Given the description of an element on the screen output the (x, y) to click on. 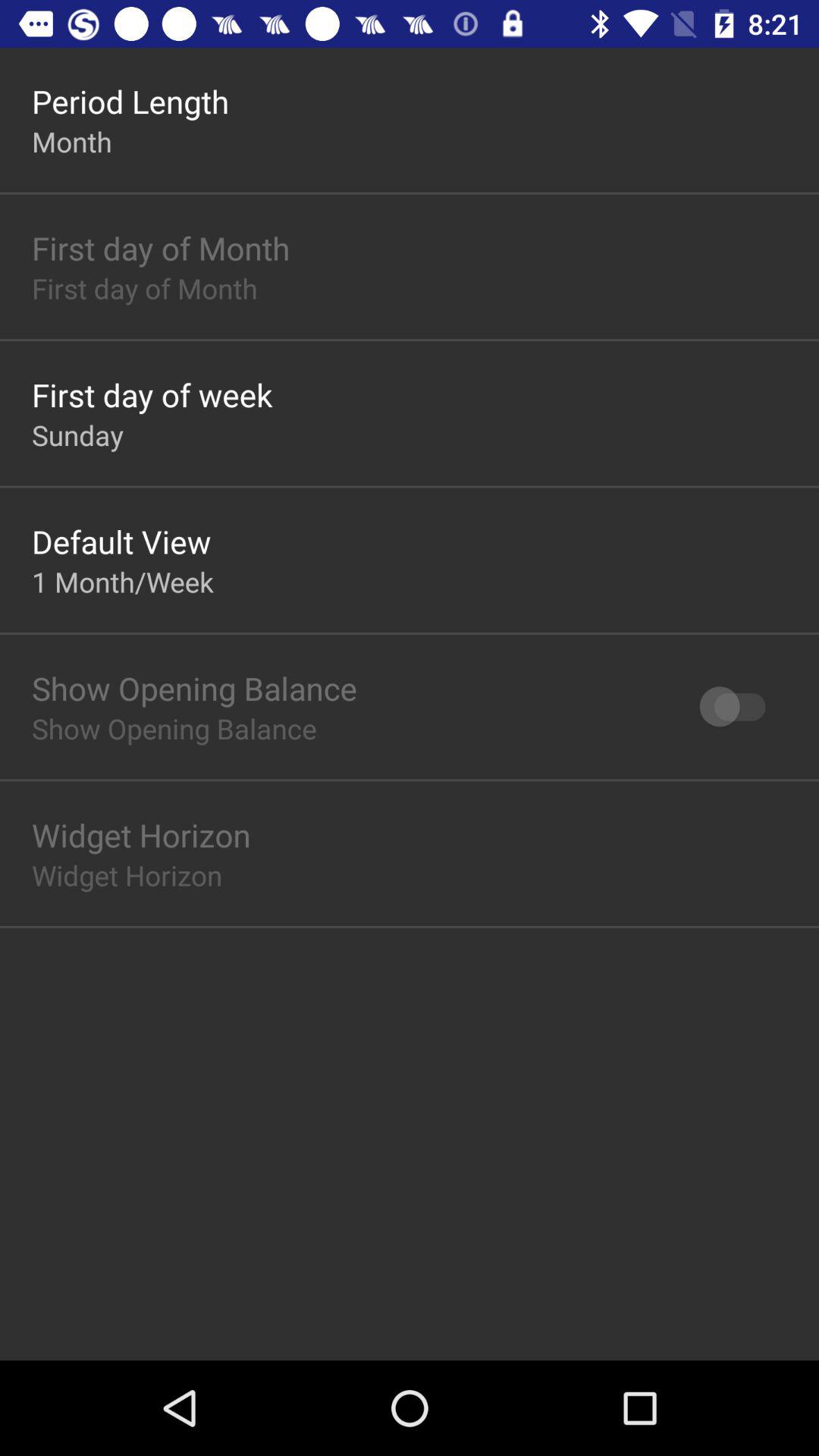
scroll to 1 month/week icon (122, 581)
